Given the description of an element on the screen output the (x, y) to click on. 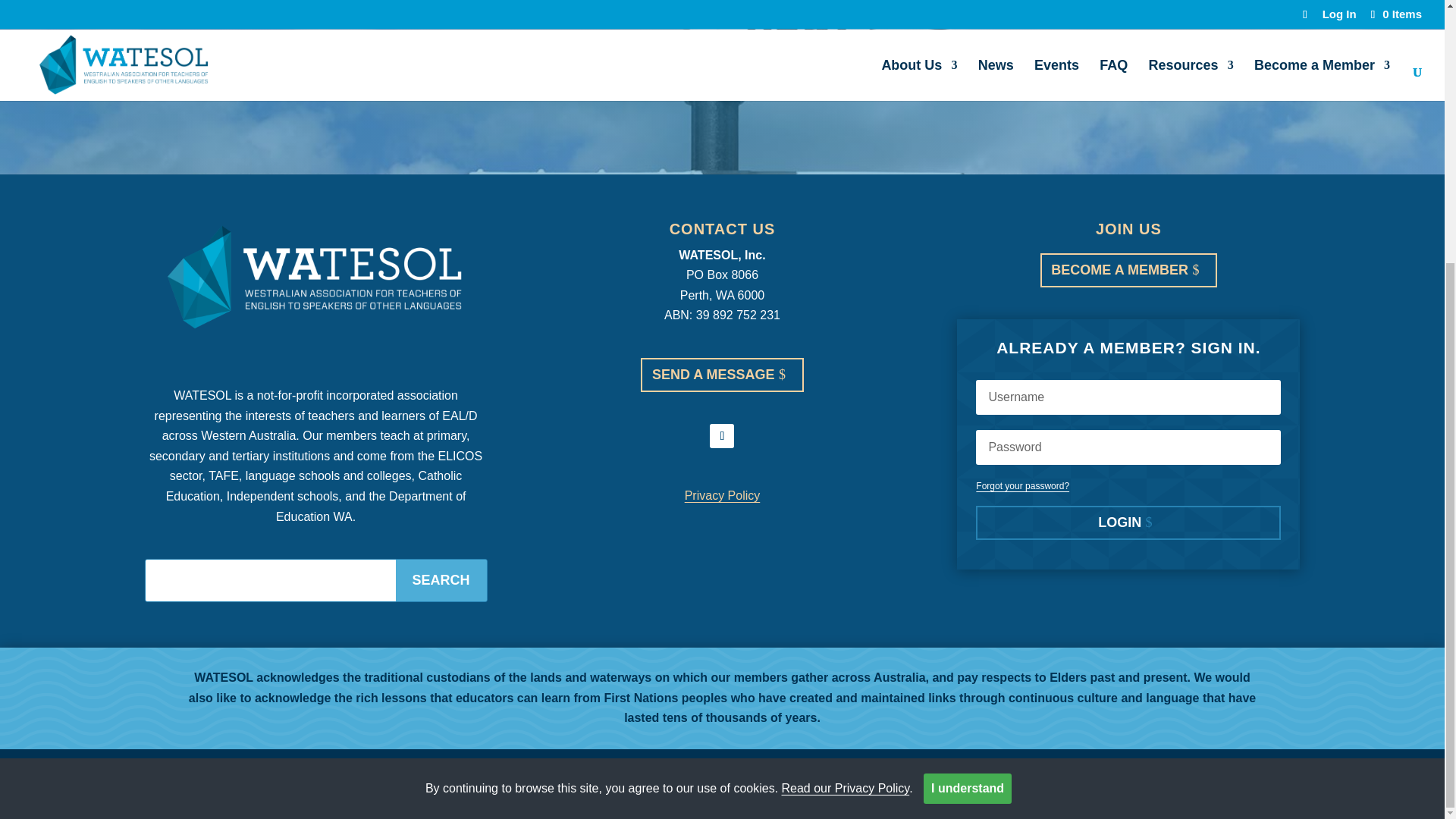
Search (441, 580)
Search (441, 580)
